Given the description of an element on the screen output the (x, y) to click on. 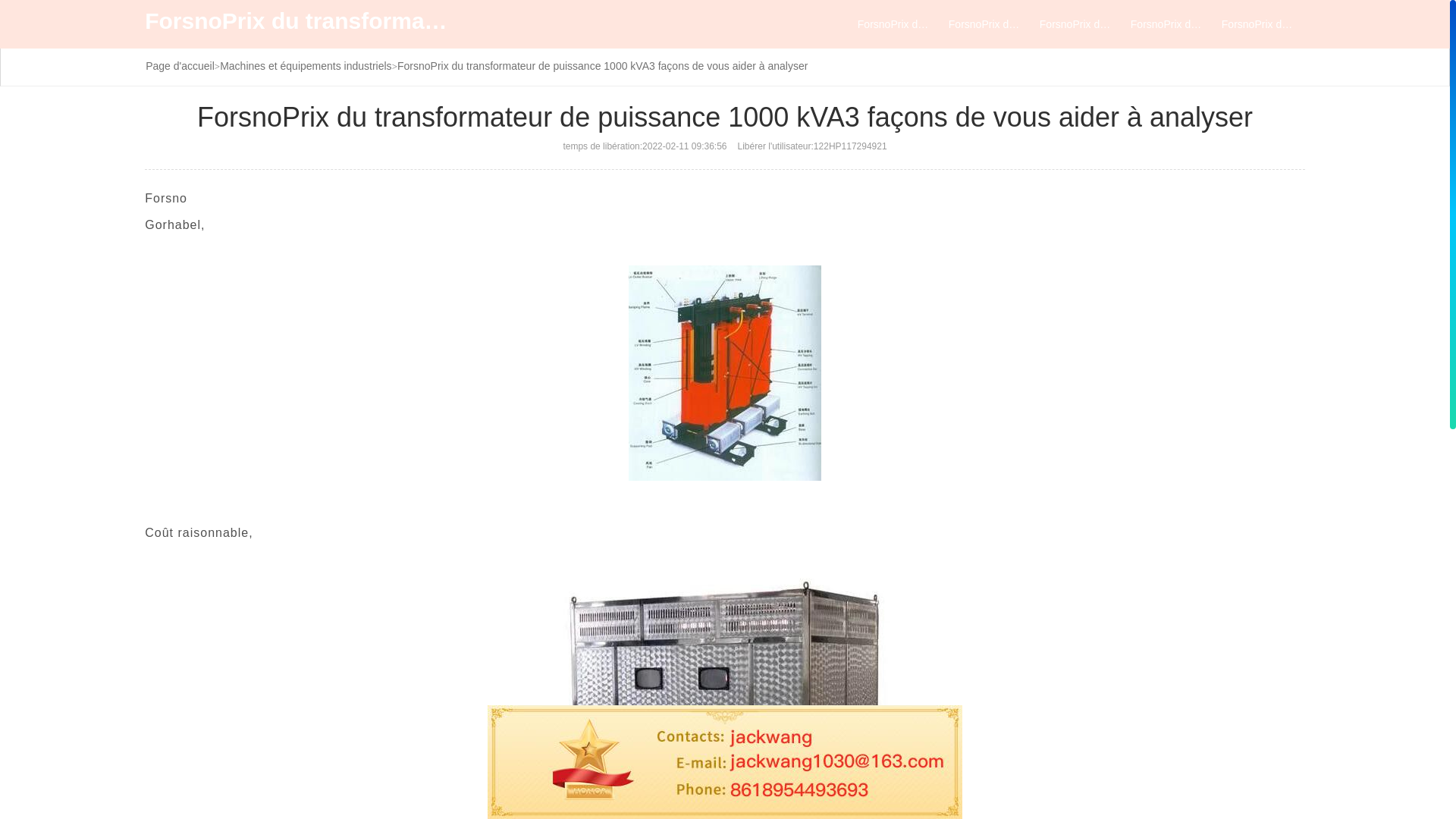
Page d'accueil Element type: text (179, 65)
